Given the description of an element on the screen output the (x, y) to click on. 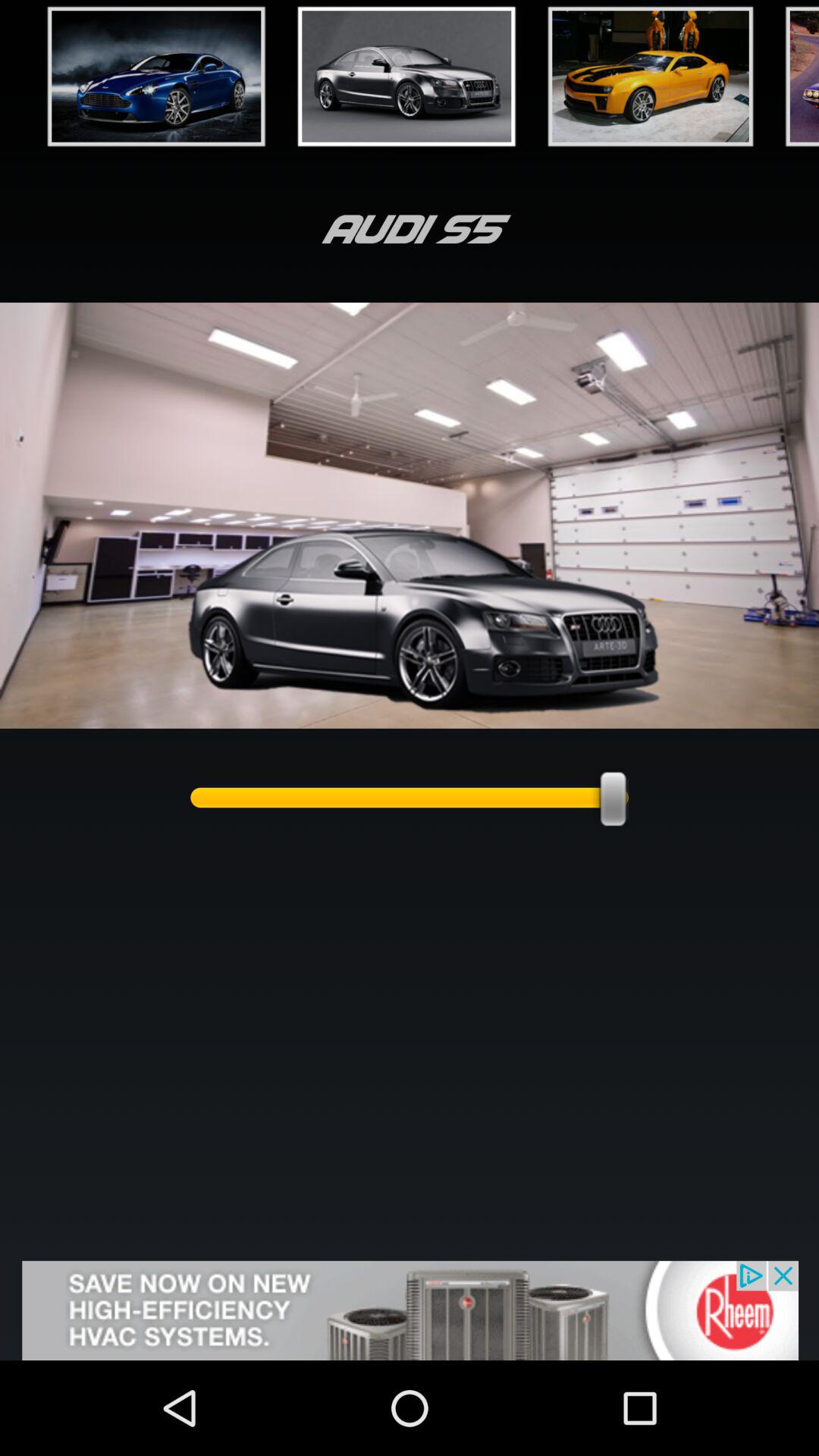
visit advertised website (409, 1310)
